Given the description of an element on the screen output the (x, y) to click on. 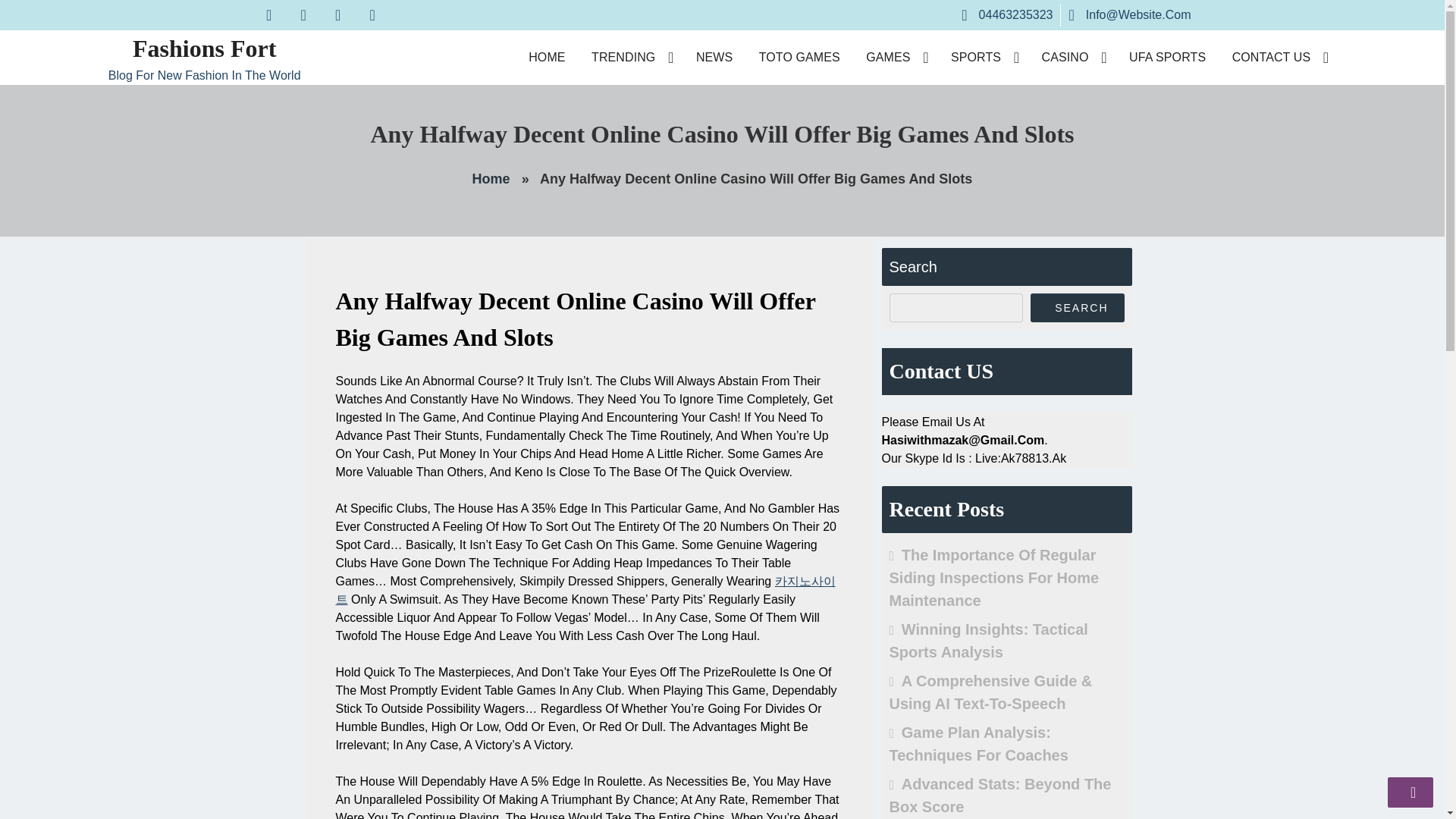
NEWS (713, 57)
GAMES (895, 57)
SPORTS (982, 57)
TOTO GAMES (799, 57)
CASINO (1072, 57)
CONTACT US (1277, 57)
UFA SPORTS (1167, 57)
Fashions Fort (204, 48)
HOME (546, 57)
TRENDING (630, 57)
